Given the description of an element on the screen output the (x, y) to click on. 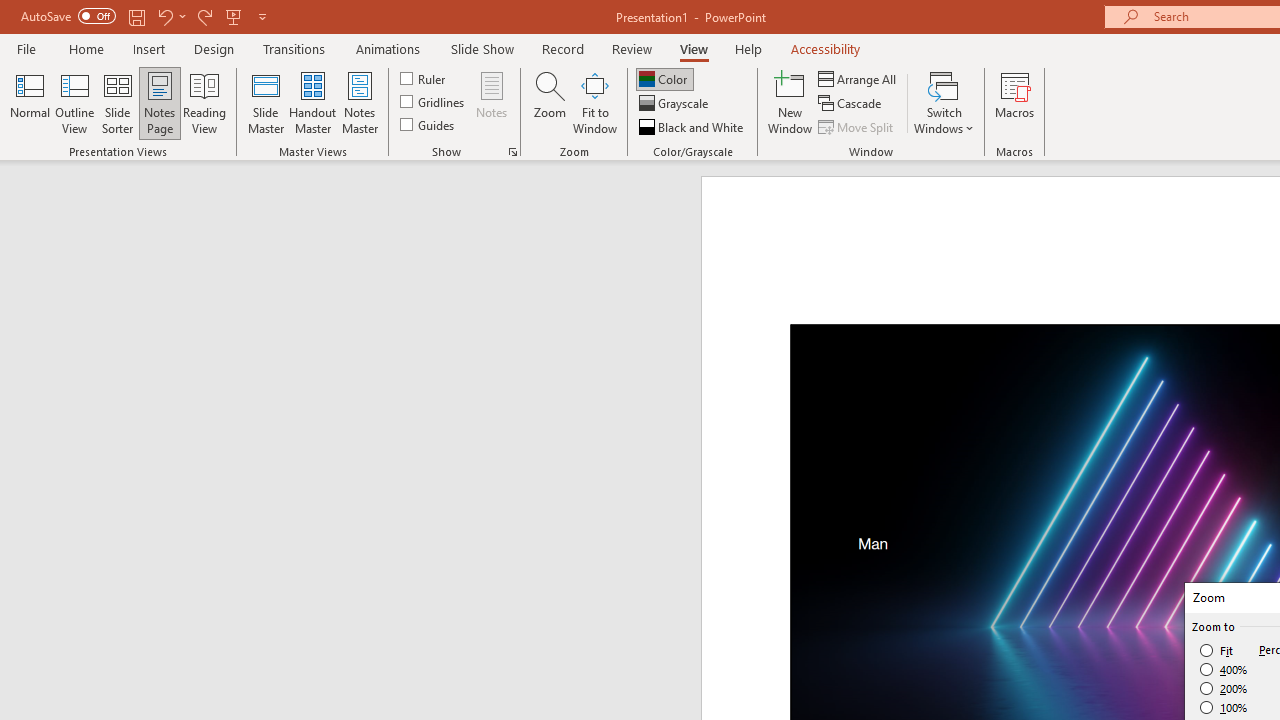
Macros (1014, 102)
Fit to Window (594, 102)
Grayscale (675, 103)
Fit (1217, 650)
Notes (492, 102)
Outline View (74, 102)
400% (1224, 669)
Ruler (423, 78)
New Window (790, 102)
